Given the description of an element on the screen output the (x, y) to click on. 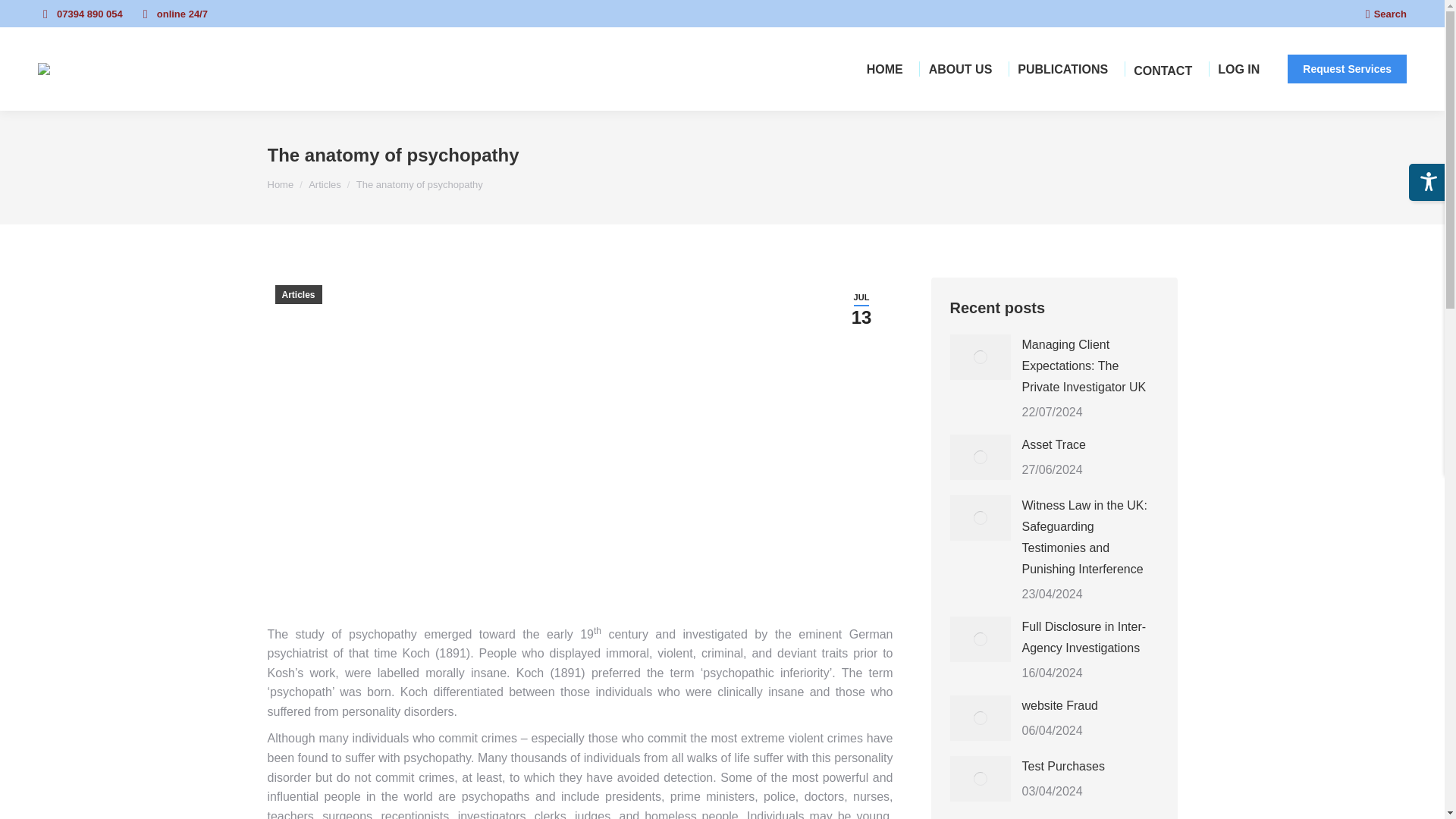
HOME (884, 68)
LOG IN (1238, 68)
Request Services (1346, 68)
ABOUT US (960, 68)
Go! (24, 16)
PUBLICATIONS (1062, 68)
CONTACT (1162, 69)
Search (1385, 12)
